Given the description of an element on the screen output the (x, y) to click on. 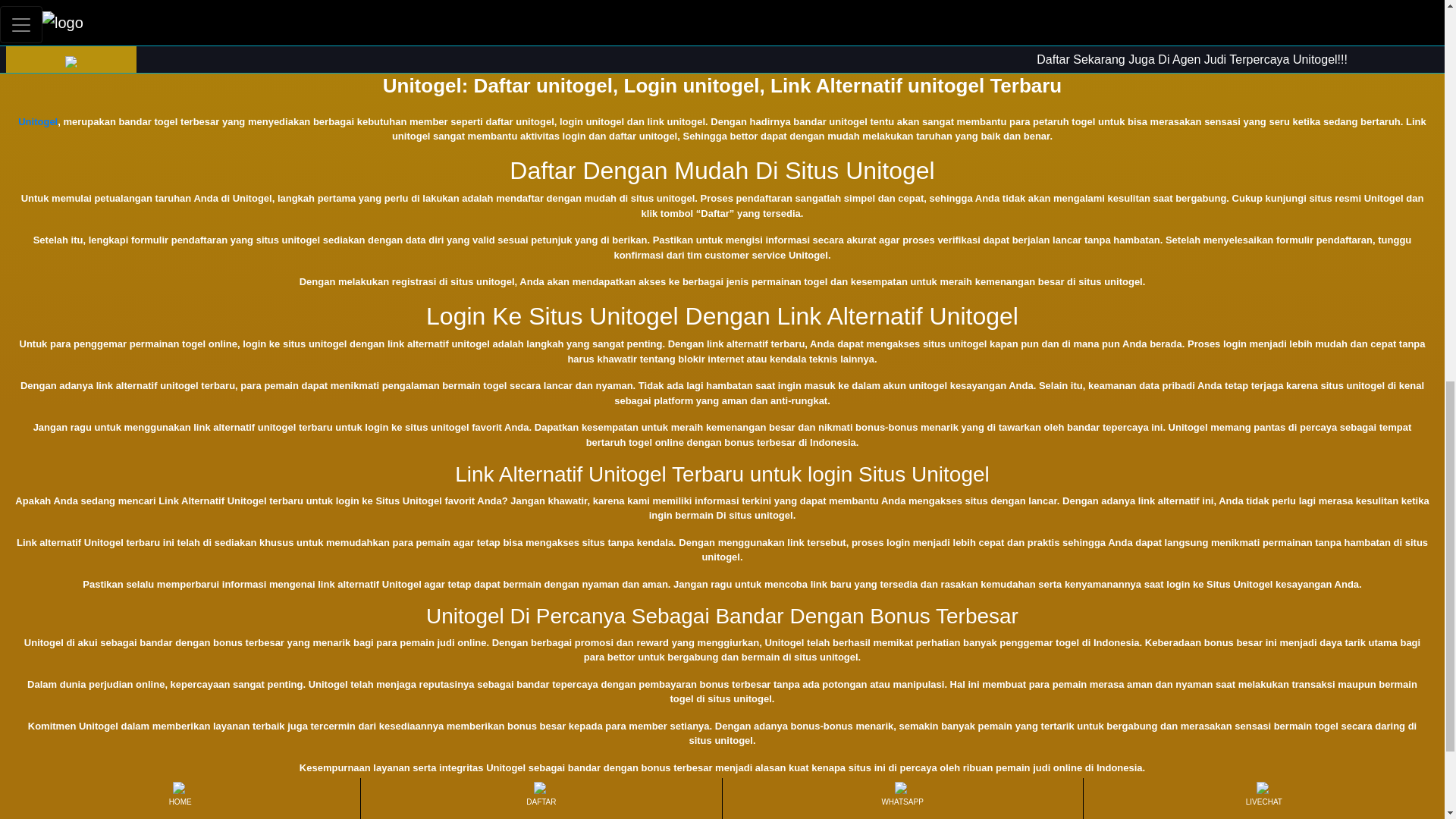
Unitogel (37, 121)
